Given the description of an element on the screen output the (x, y) to click on. 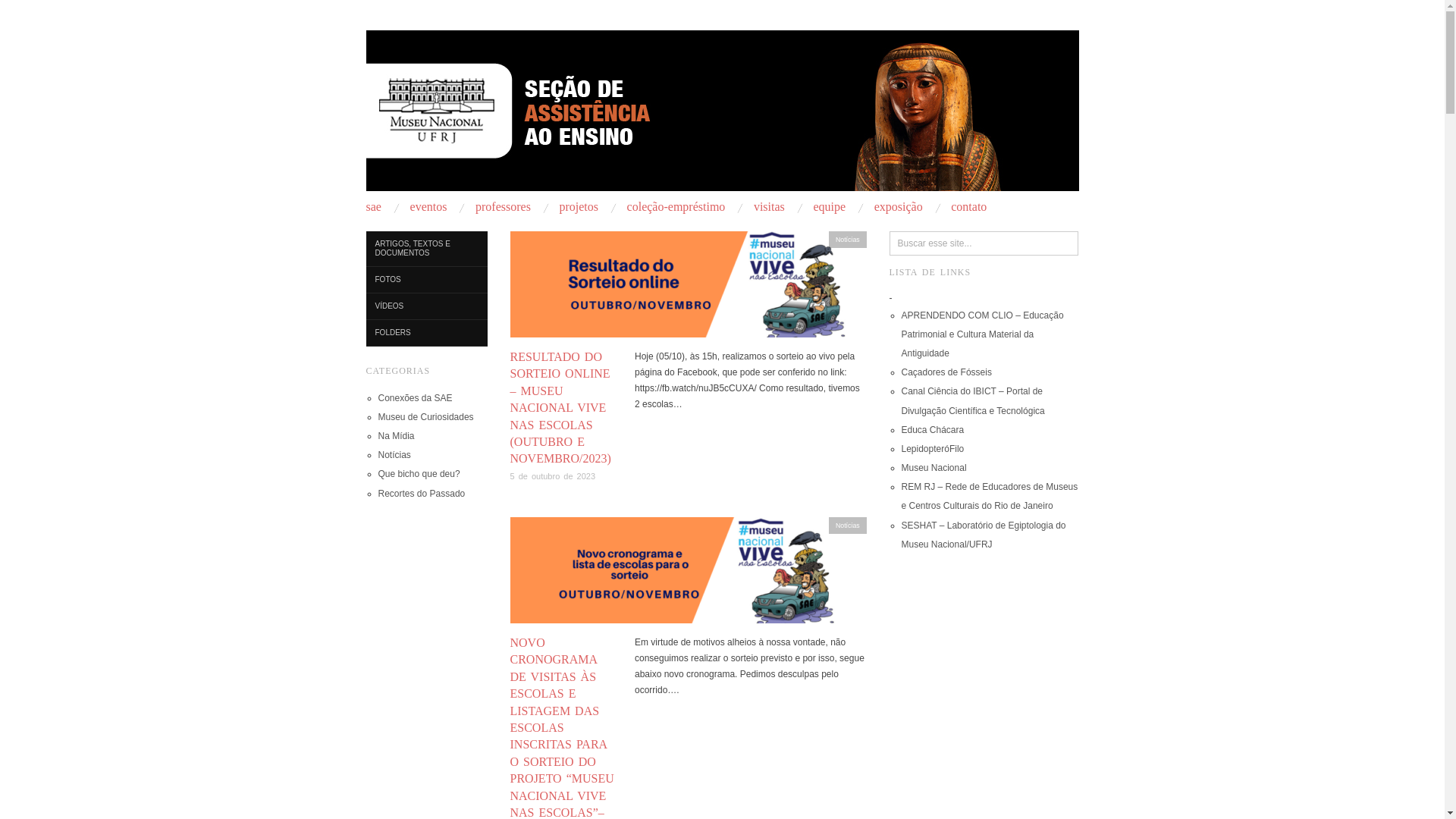
eventos Element type: text (428, 206)
Buscar Element type: text (24, 10)
Museu Nacional Element type: text (933, 467)
professores Element type: text (502, 206)
5 de outubro de 2023 Element type: text (552, 475)
contato Element type: text (968, 206)
Museu de Curiosidades Element type: text (425, 416)
Que bicho que deu? Element type: text (418, 473)
Museu Nacional - SAE Element type: hover (721, 107)
sae Element type: text (372, 206)
FOTOS Element type: text (425, 279)
FOLDERS Element type: text (425, 333)
projetos Element type: text (578, 206)
equipe Element type: text (828, 206)
visitas Element type: text (768, 206)
Recortes do Passado Element type: text (420, 493)
ARTIGOS, TEXTOS E DOCUMENTOS Element type: text (425, 248)
